Given the description of an element on the screen output the (x, y) to click on. 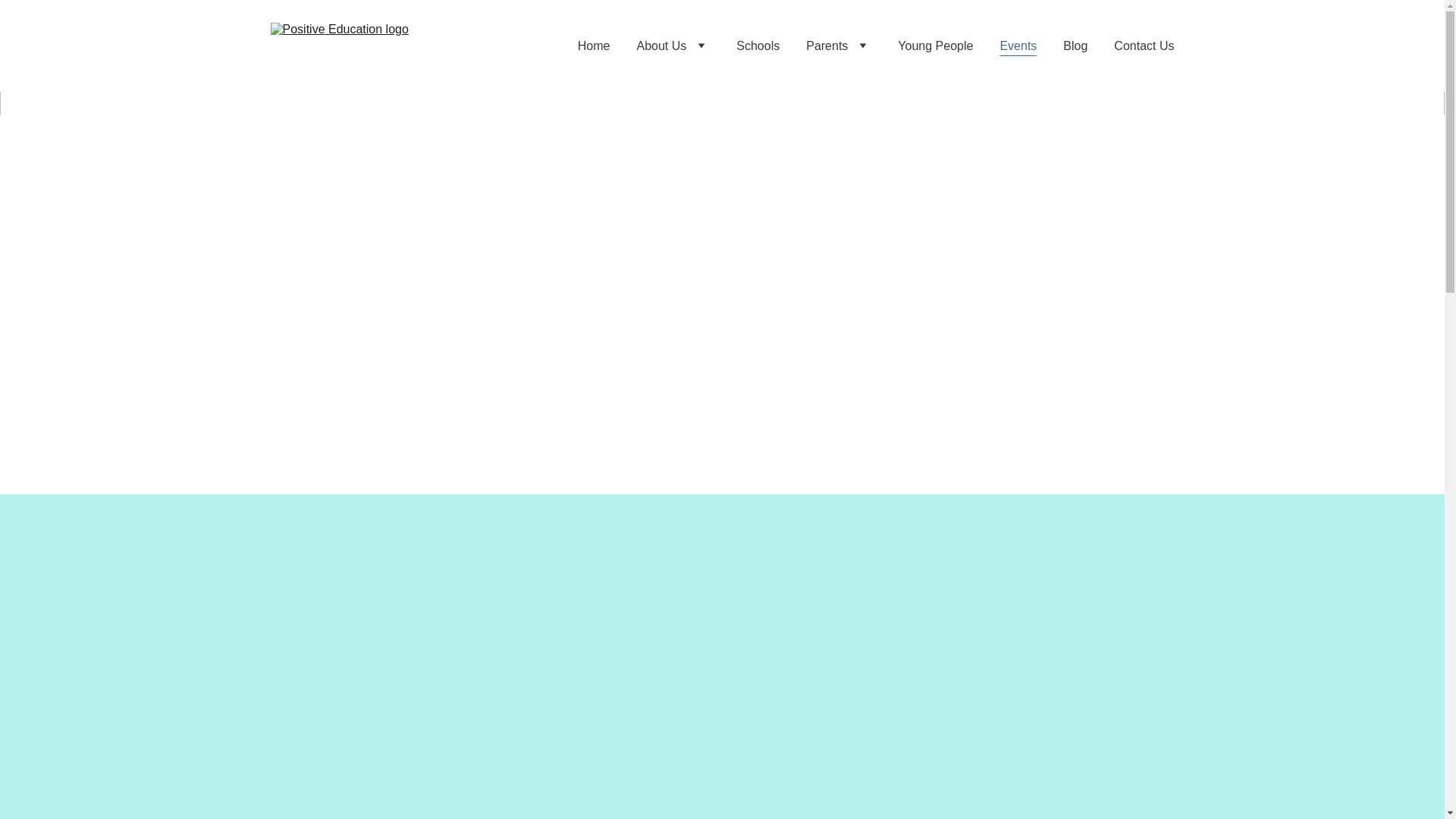
Events (1017, 45)
Schools (757, 45)
Young People (935, 45)
Contact Us (1143, 45)
Blog (1074, 45)
About Us (660, 45)
Parents (826, 45)
Home (594, 45)
